Given the description of an element on the screen output the (x, y) to click on. 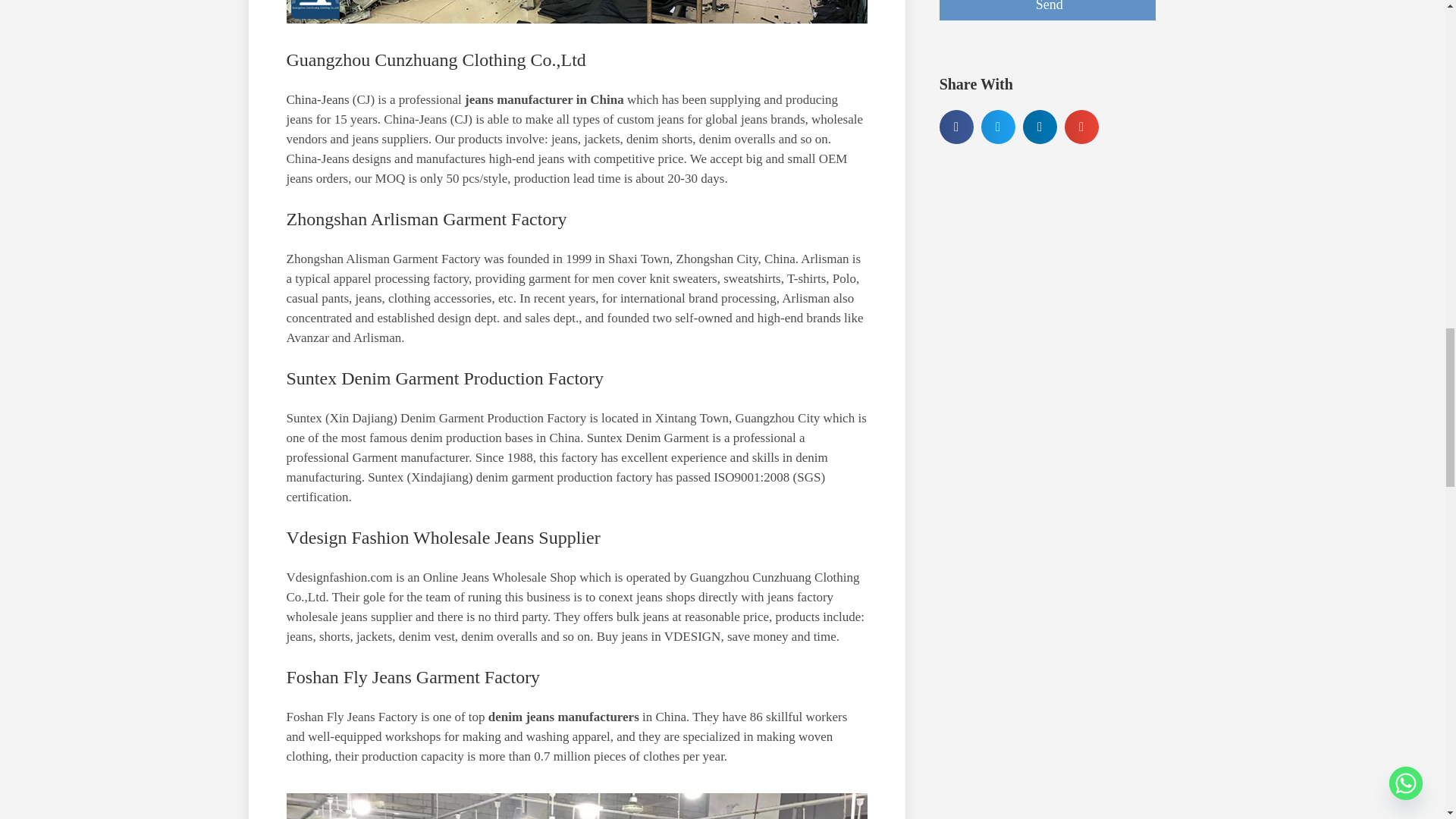
China-Jeans (317, 99)
